Given the description of an element on the screen output the (x, y) to click on. 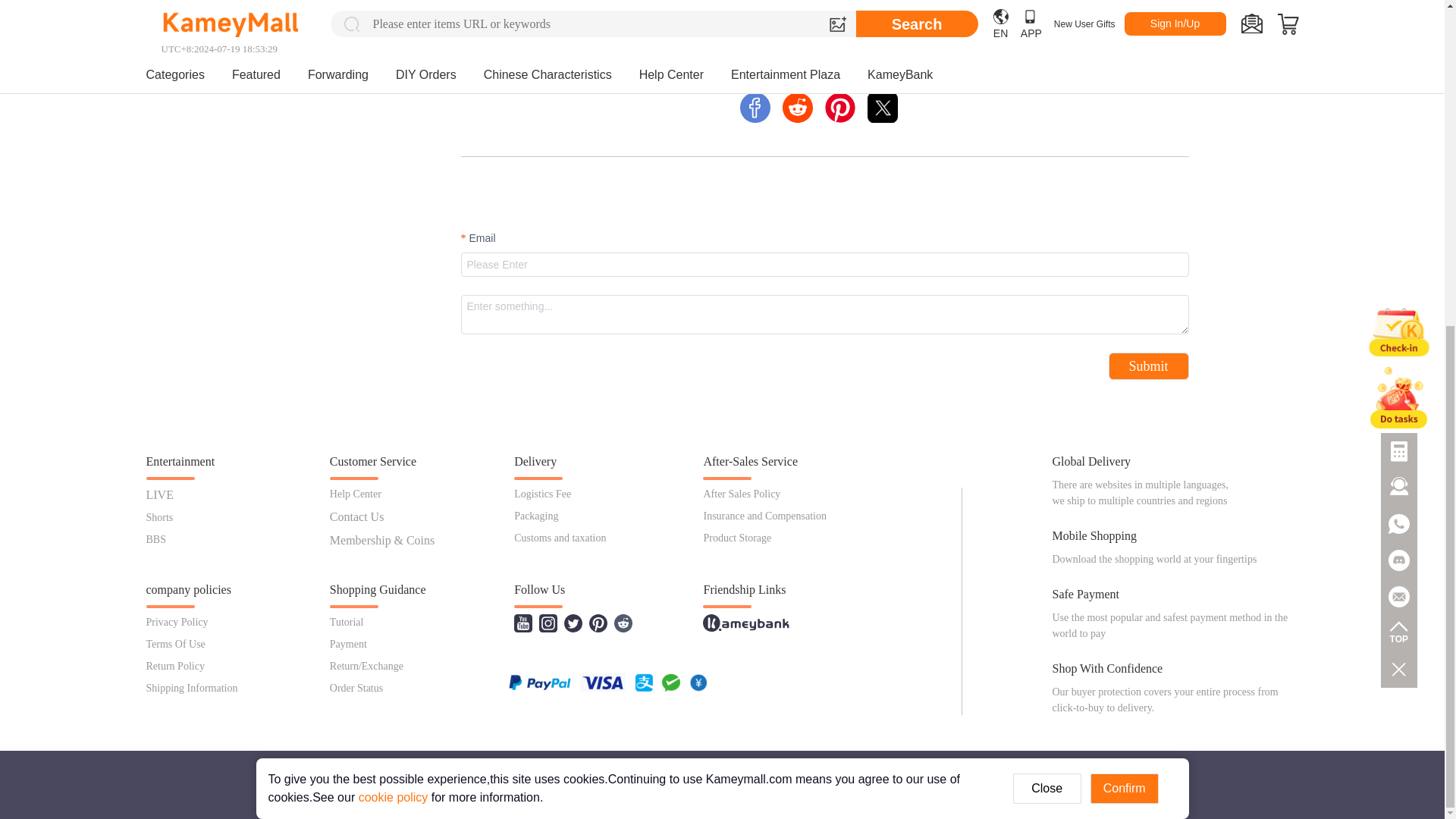
Insurance and Compensation (765, 515)
Previous: Zorbing Experience FAQs (545, 31)
Product Storage (737, 537)
Shorts (159, 517)
Created with Pixso. (882, 107)
Privacy Policy (176, 622)
Customs and taxation (559, 537)
Submit (1148, 366)
After Sales Policy (741, 493)
Return Policy (174, 665)
BBS (155, 539)
Terms Of Use (175, 644)
Packaging (535, 515)
Logistics Fee (541, 493)
Help Center (355, 493)
